Given the description of an element on the screen output the (x, y) to click on. 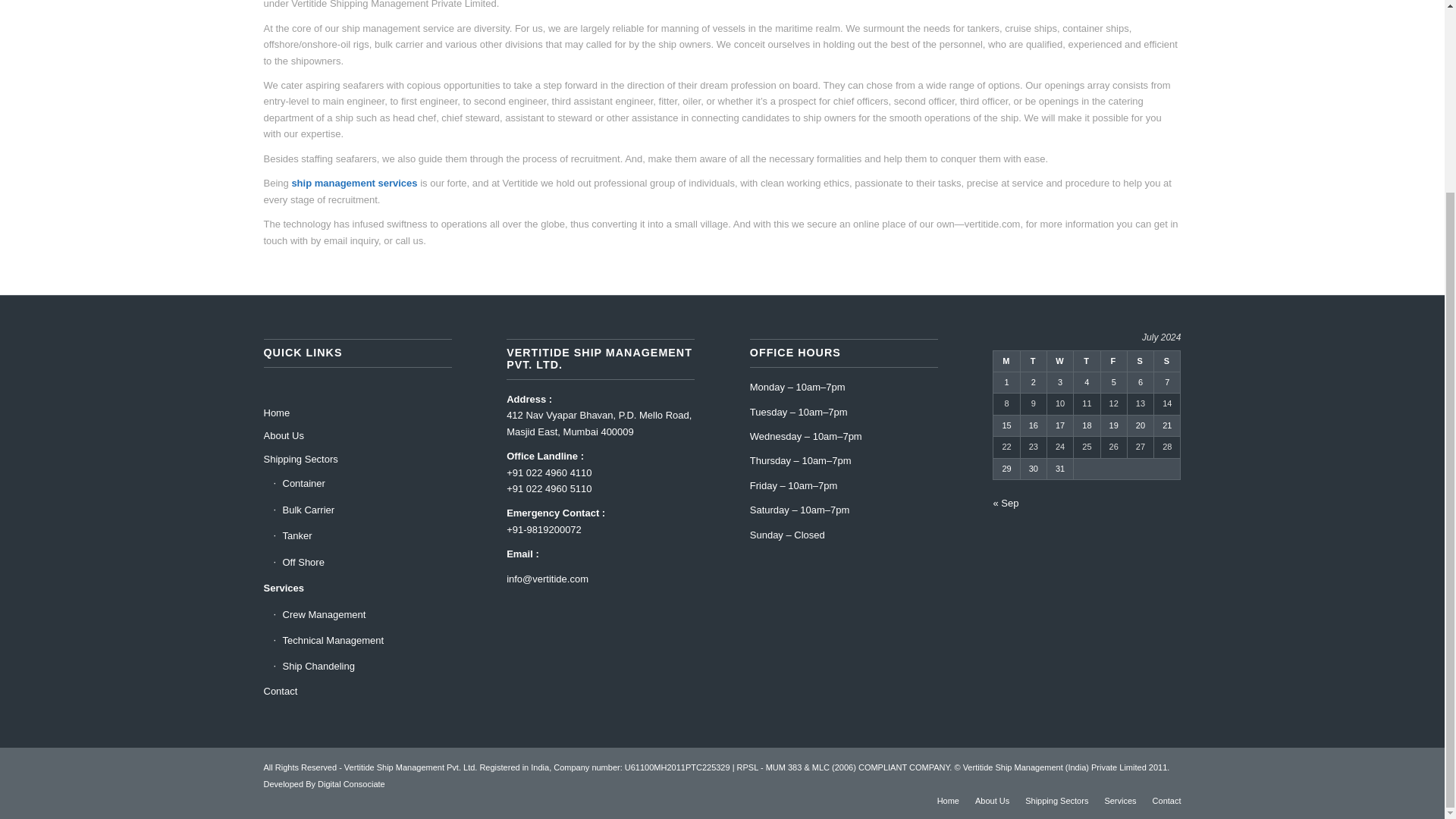
Wednesday (1059, 360)
Saturday (1139, 360)
Crew Management (362, 614)
Tuesday (1033, 360)
Services (357, 588)
Friday (1113, 360)
Container (362, 483)
Off Shore (362, 562)
Ship Chandeling (362, 666)
About Us (357, 436)
Home (948, 800)
Office Landline : (544, 455)
Thursday (1087, 360)
Monday (1006, 360)
